Given the description of an element on the screen output the (x, y) to click on. 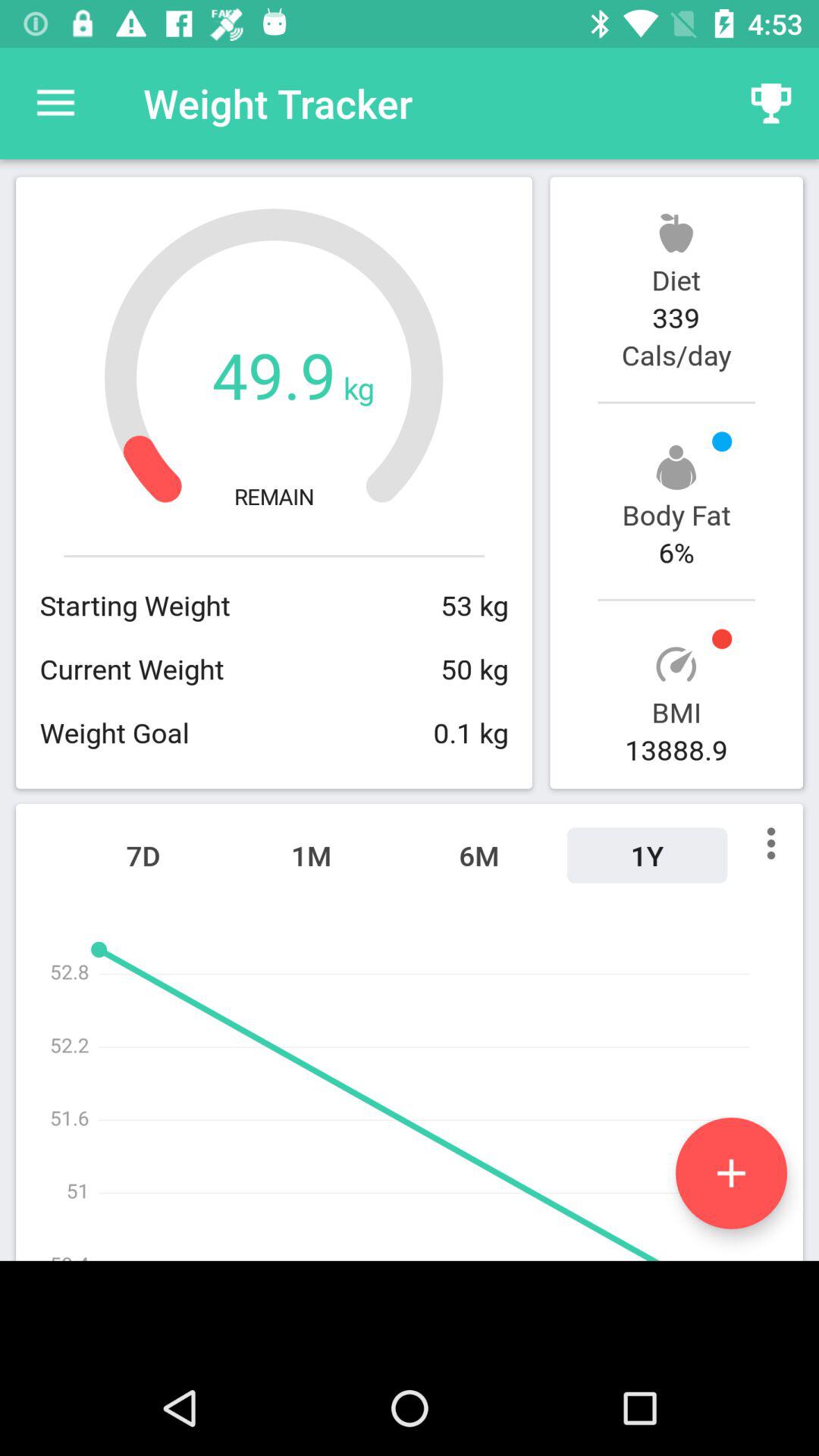
tap icon to the left of the 1m (143, 855)
